Given the description of an element on the screen output the (x, y) to click on. 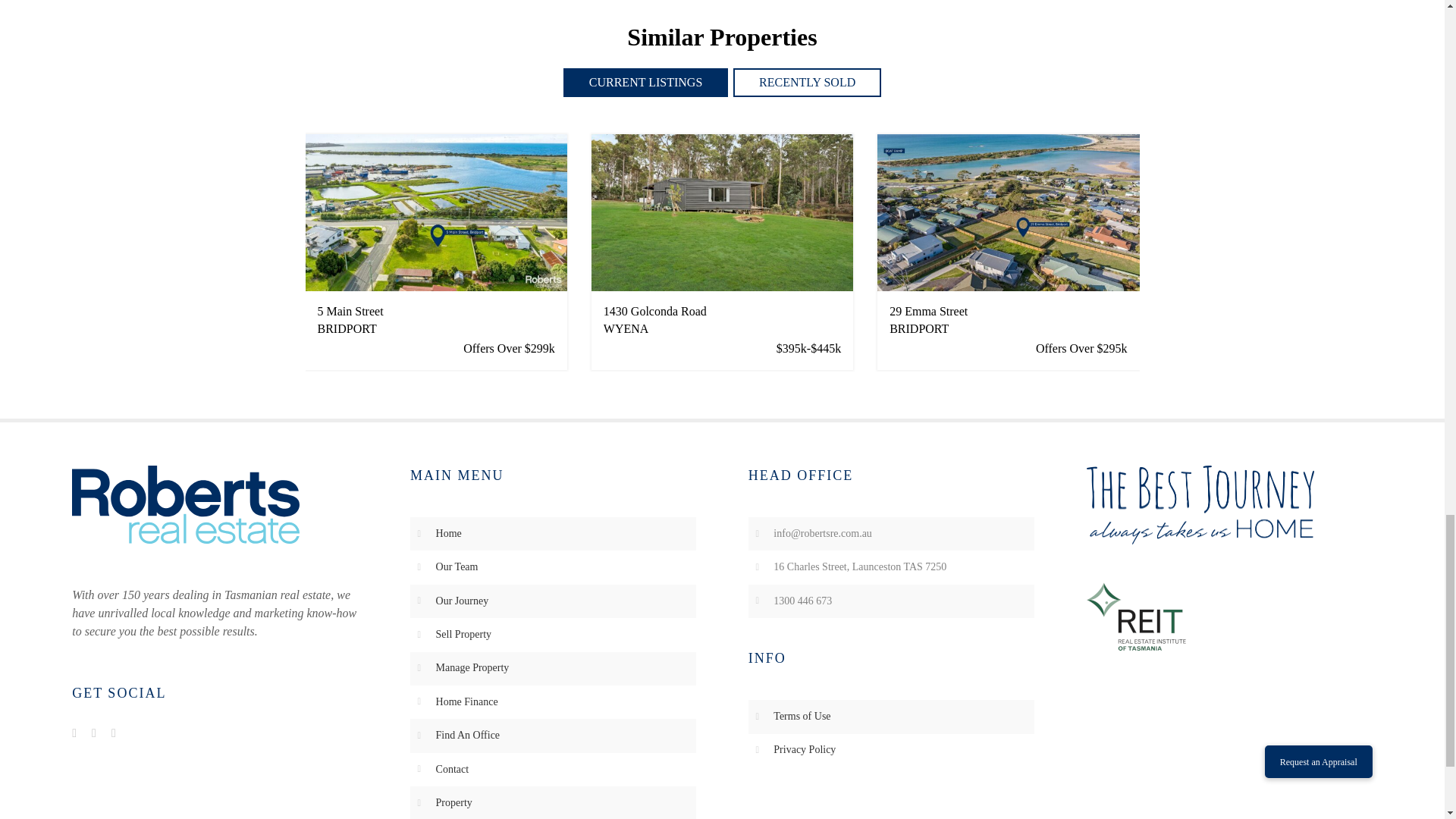
The Best Journey Always Takes Us Home (1199, 505)
Asset 1 (185, 504)
image001-4 (1135, 616)
